Given the description of an element on the screen output the (x, y) to click on. 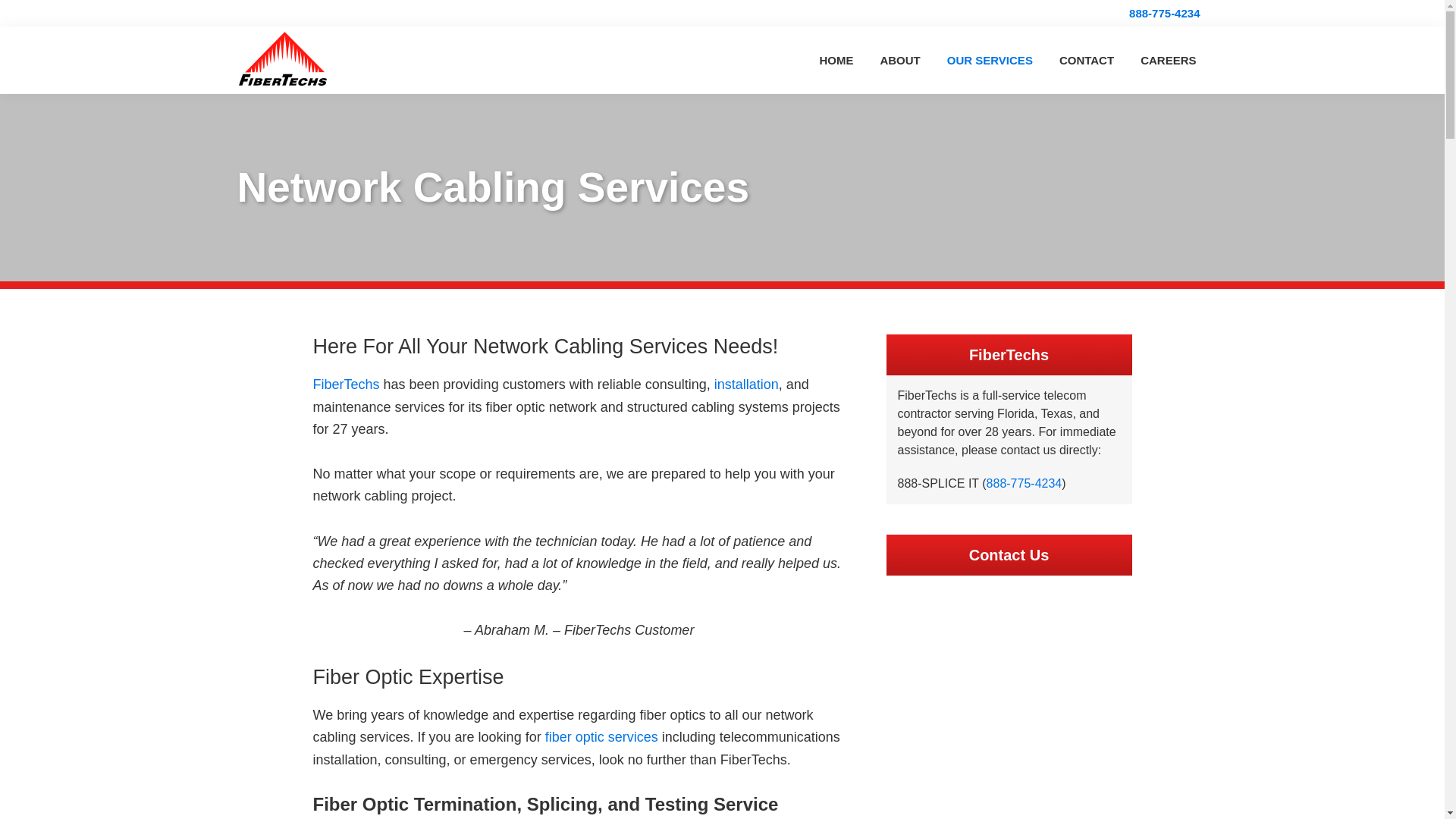
CAREERS (1168, 60)
fiber optic services (601, 736)
ABOUT (899, 60)
888-775-4234 (1164, 13)
CONTACT (1086, 60)
installation (746, 384)
888-775-4234 (1024, 482)
OUR SERVICES (989, 60)
FiberTechs (345, 384)
